Given the description of an element on the screen output the (x, y) to click on. 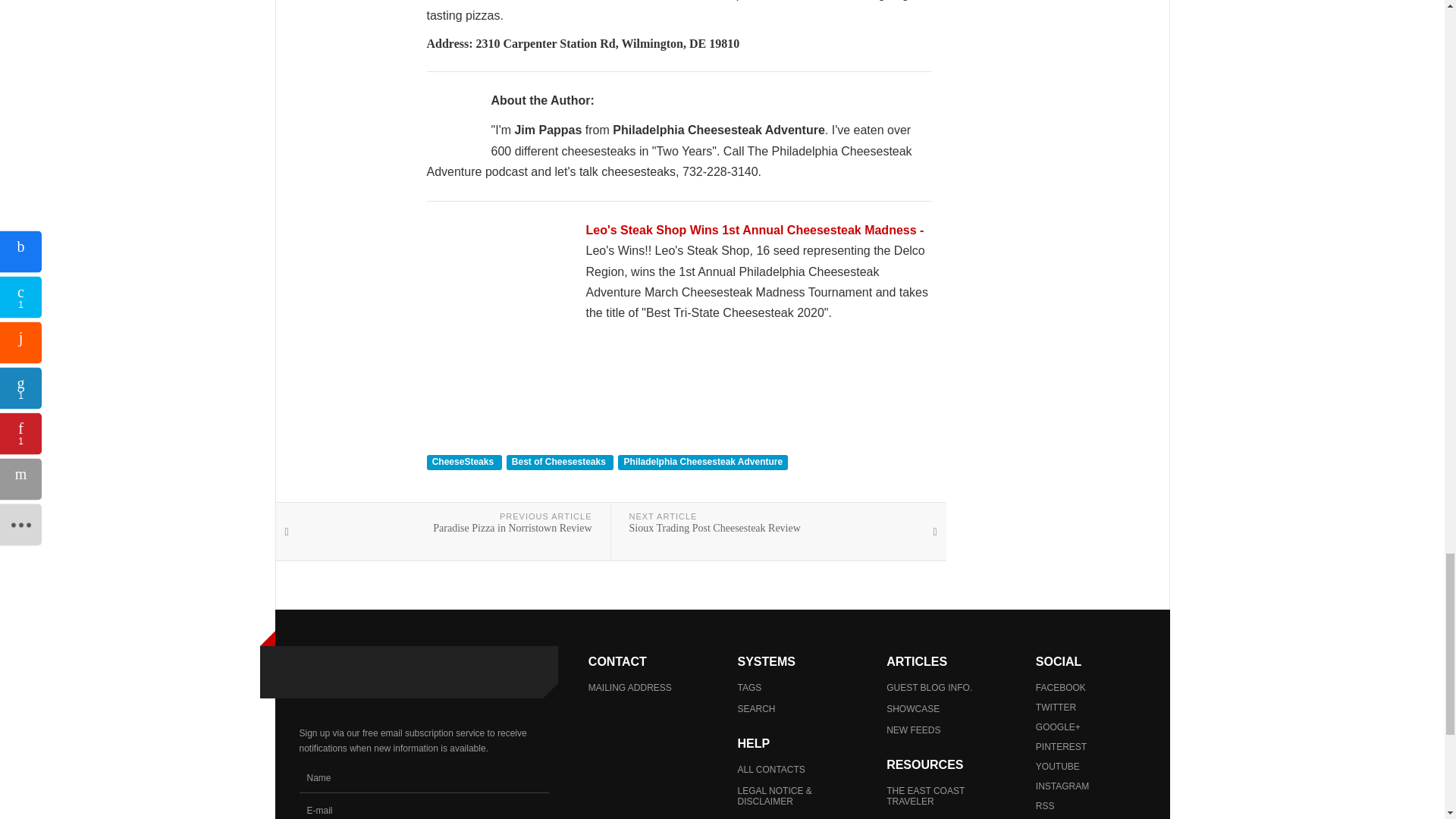
E-mail (423, 807)
Name (423, 778)
E-mail (423, 807)
Name (423, 778)
